Given the description of an element on the screen output the (x, y) to click on. 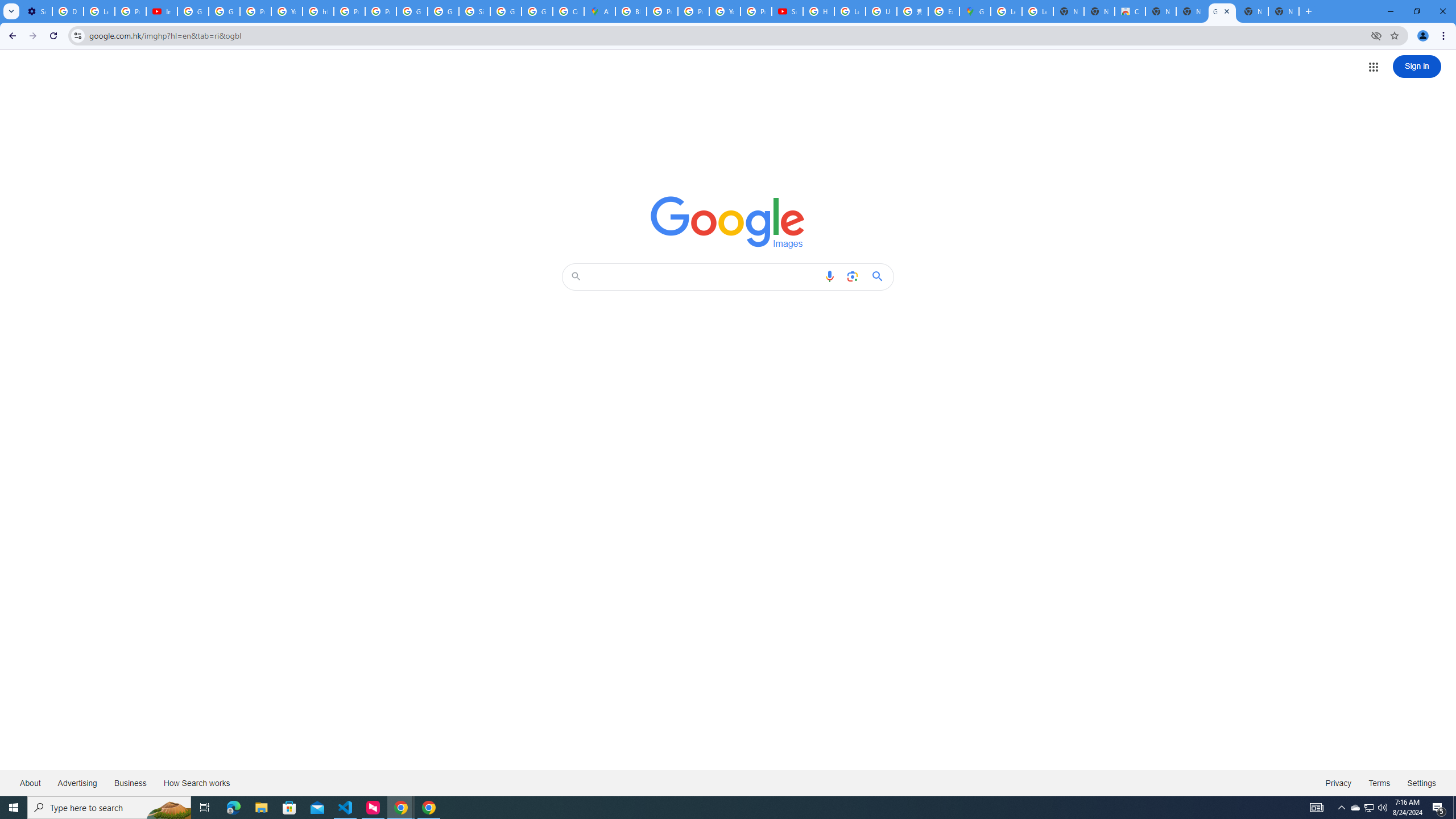
Create your Google Account (568, 11)
Blogger Policies and Guidelines - Transparency Center (631, 11)
Google Images (1222, 11)
Introduction | Google Privacy Policy - YouTube (161, 11)
Subscriptions - YouTube (787, 11)
https://scholar.google.com/ (318, 11)
